Given the description of an element on the screen output the (x, y) to click on. 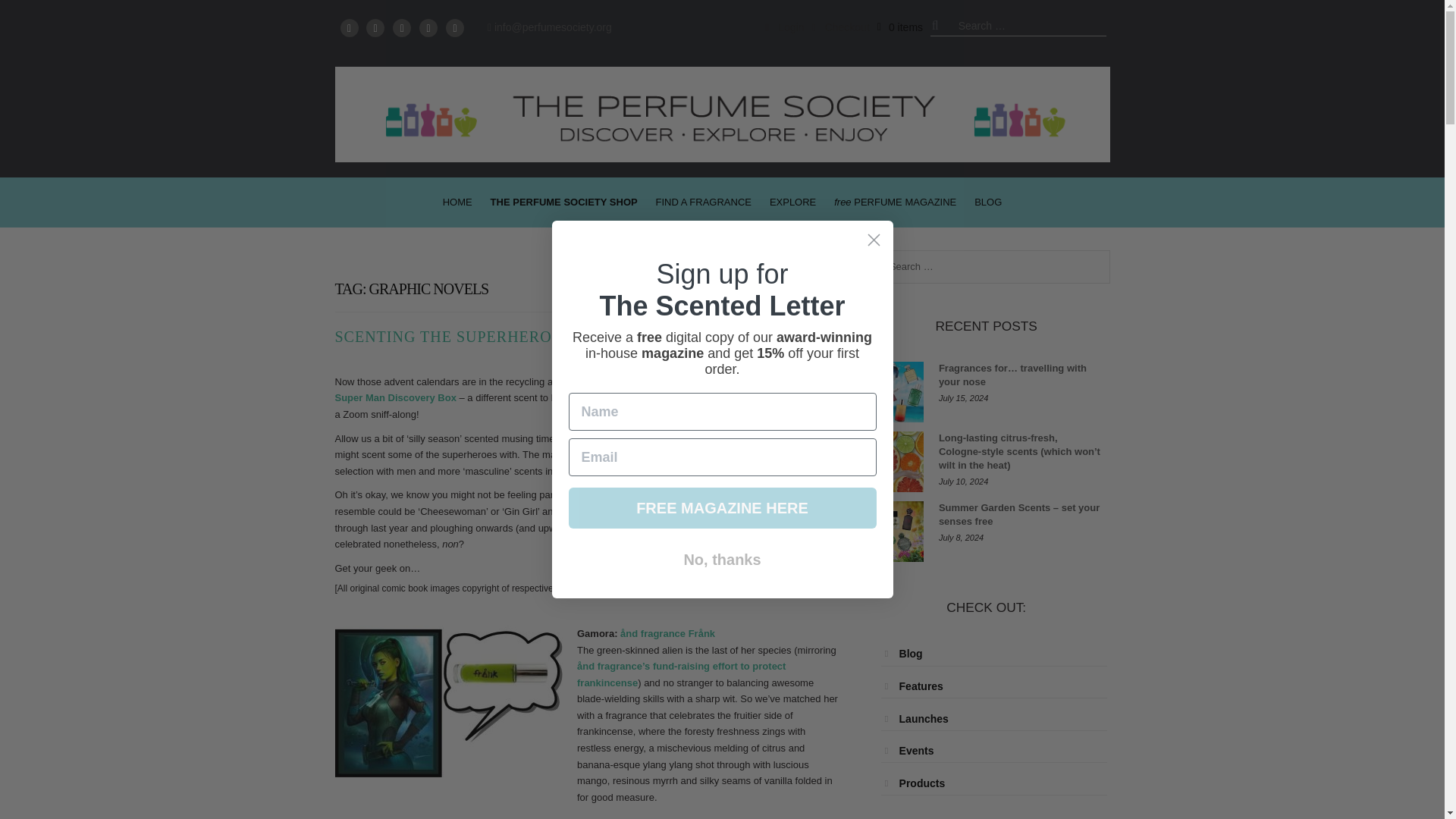
Checkout (840, 27)
0 items (900, 27)
THE PERFUME SOCIETY SHOP (563, 201)
View your shopping basket (900, 27)
Login (784, 27)
